Given the description of an element on the screen output the (x, y) to click on. 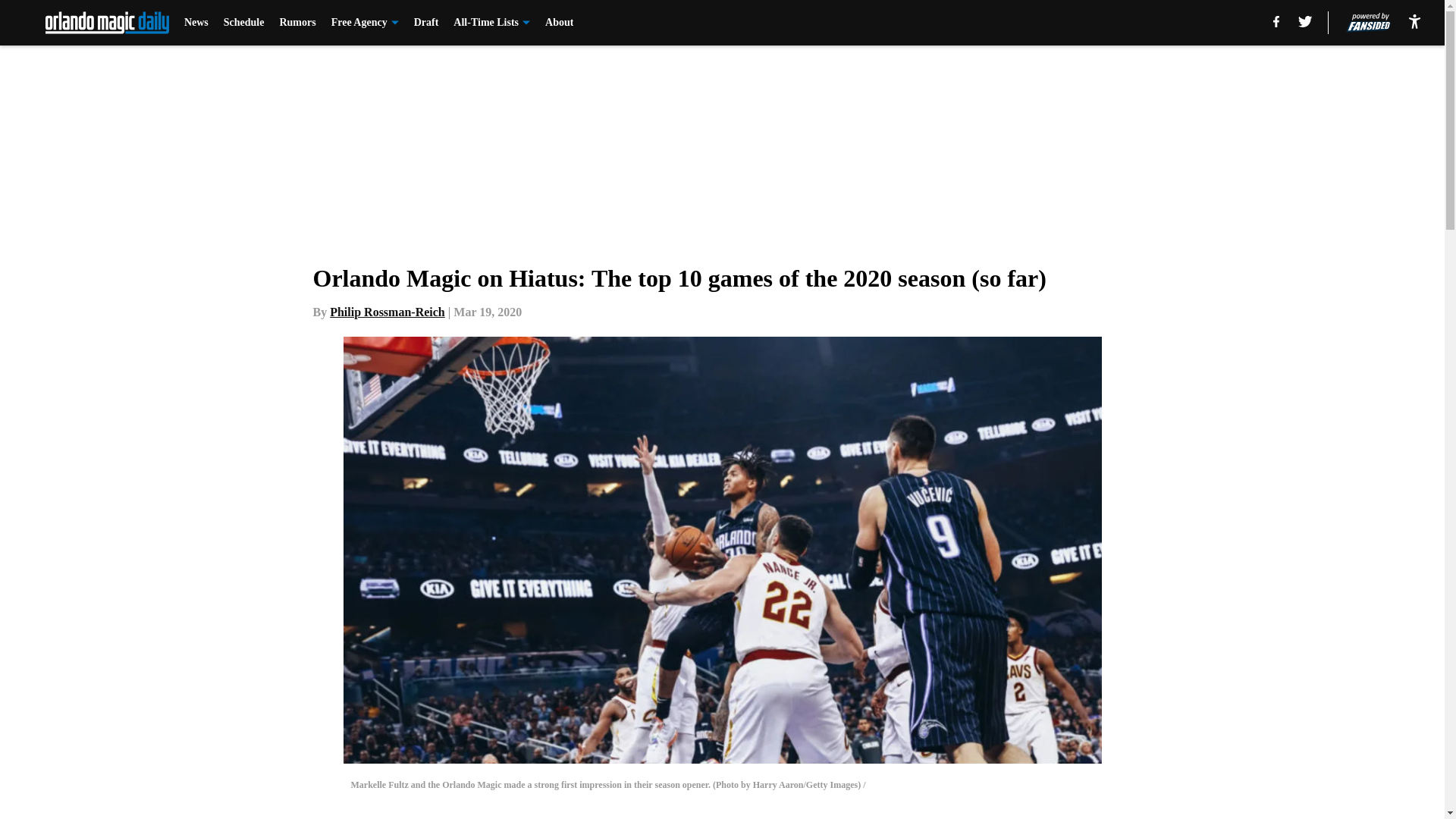
All-Time Lists (490, 22)
Rumors (297, 22)
Draft (426, 22)
About (558, 22)
News (196, 22)
Free Agency (364, 22)
Schedule (244, 22)
Philip Rossman-Reich (387, 311)
